Given the description of an element on the screen output the (x, y) to click on. 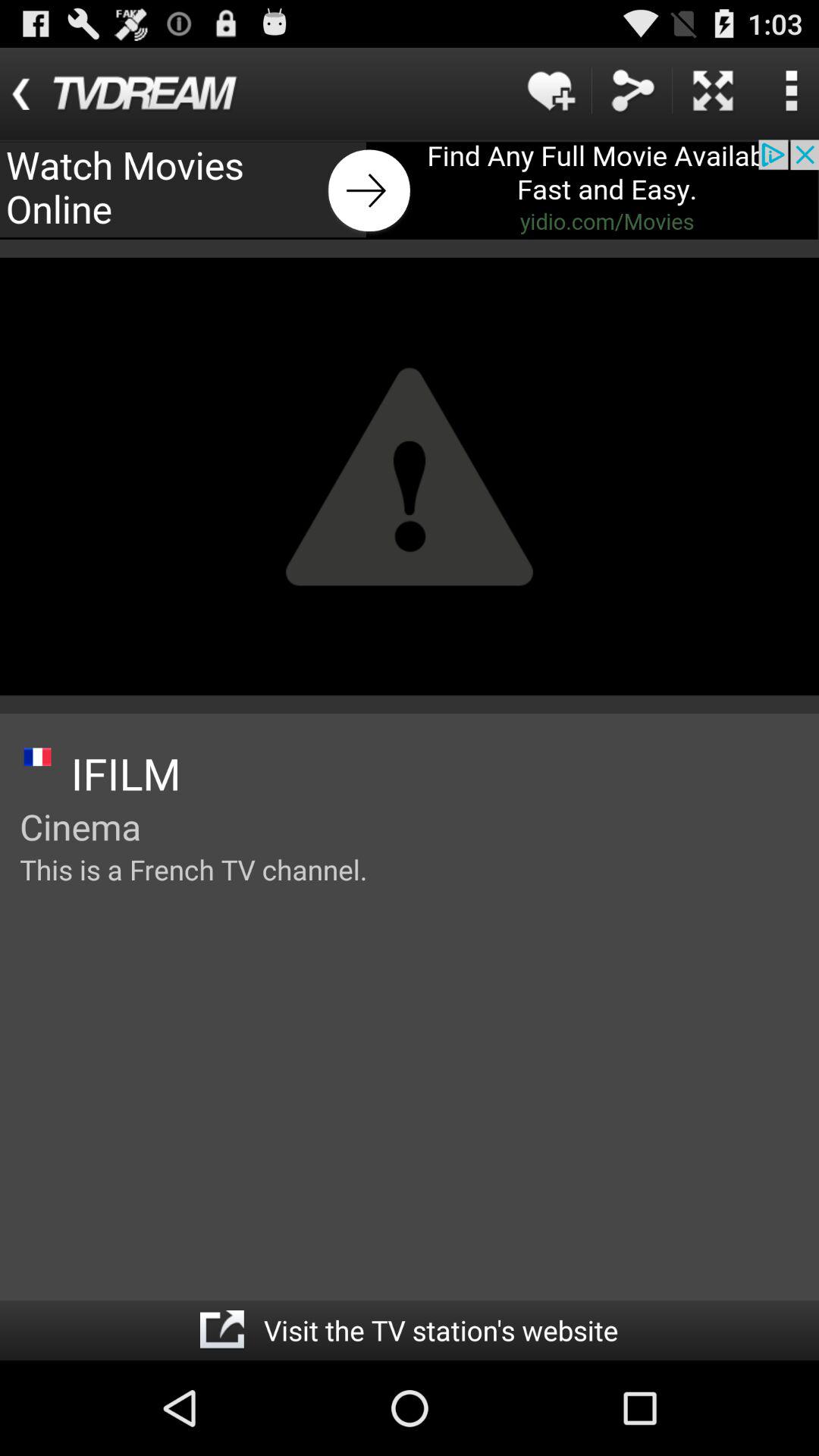
advertisement (712, 90)
